Given the description of an element on the screen output the (x, y) to click on. 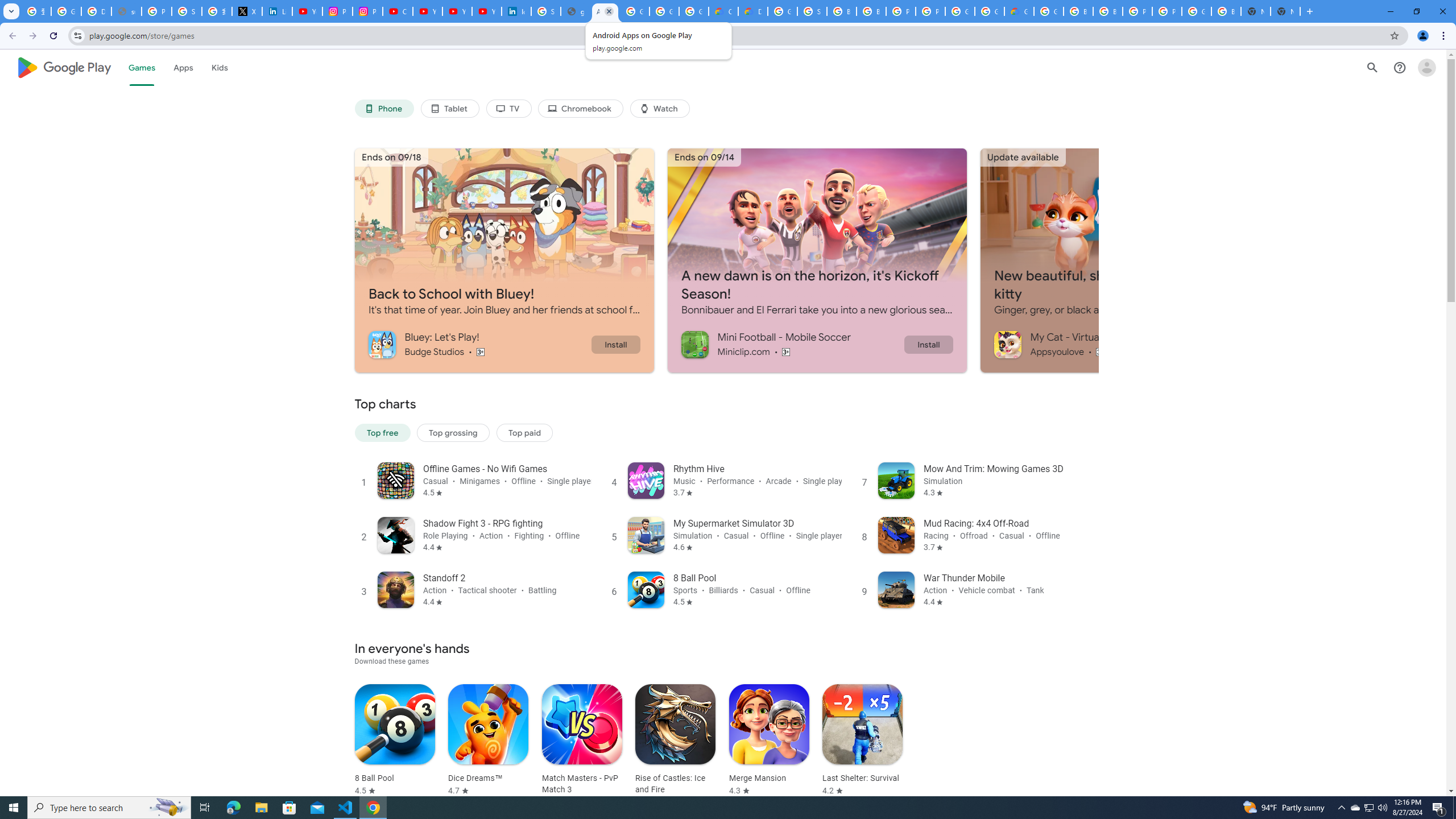
TV (508, 108)
Bluey: Let's Play! Budge Studios Content rating Rated for 3+ (479, 344)
Browse Chrome as a guest - Computer - Google Chrome Help (1077, 11)
Customer Care | Google Cloud (723, 11)
Google Cloud Platform (782, 11)
Open account menu (1426, 67)
8 Ball Pool Rated 4.5 stars out of five stars (394, 739)
Browse Chrome as a guest - Computer - Google Chrome Help (841, 11)
Google Cloud Estimate Summary (1018, 11)
